Given the description of an element on the screen output the (x, y) to click on. 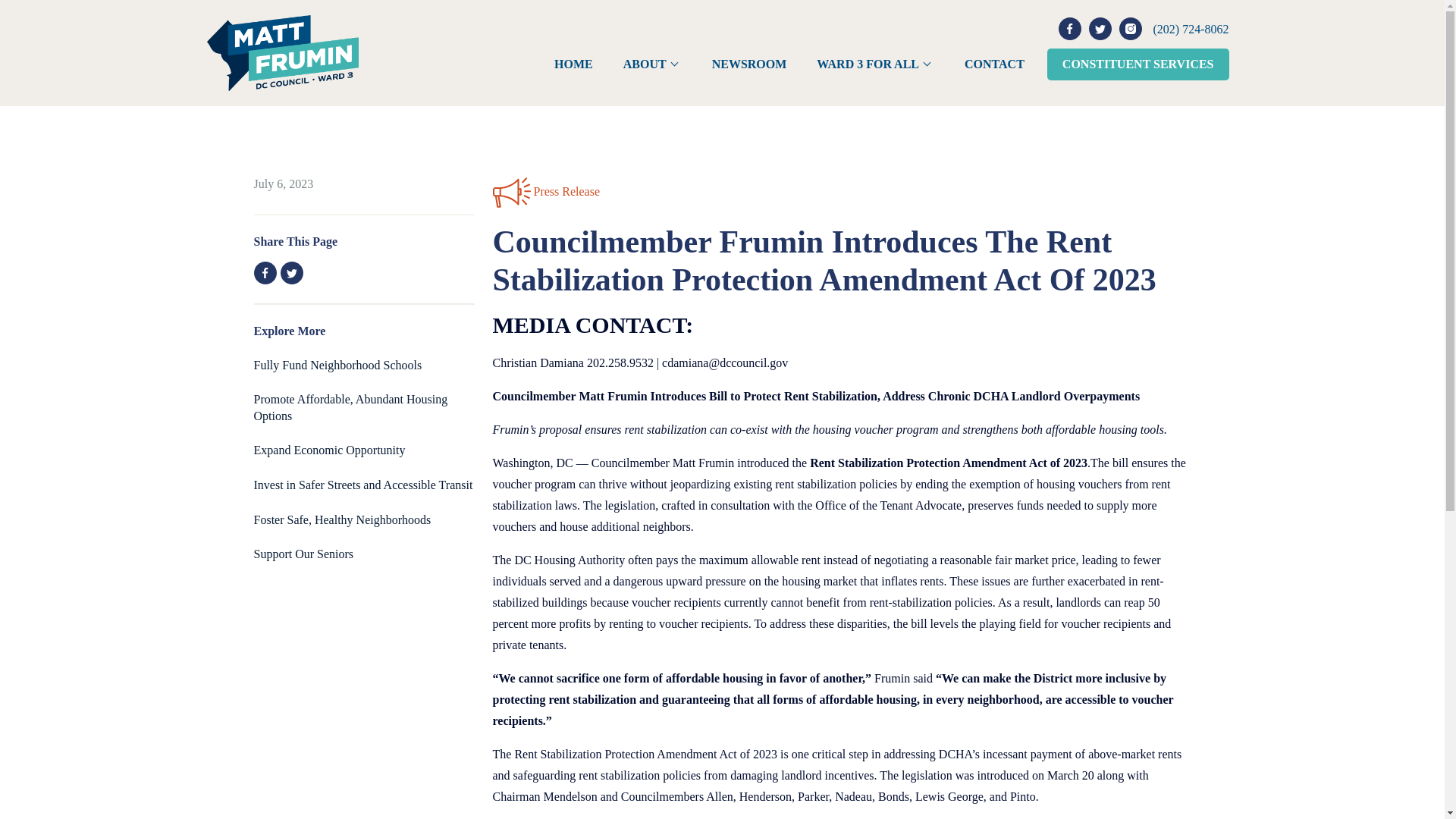
LEARN MORE (349, 407)
LEARN MORE (362, 484)
LEARN MORE (337, 364)
LEARN MORE (328, 449)
CONSTITUENT SERVICES (1137, 64)
LEARN MORE (341, 519)
Fully Fund Neighborhood Schools (337, 364)
HOME (573, 64)
Promote Affordable, Abundant Housing Options (349, 407)
CONTACT (994, 64)
